Given the description of an element on the screen output the (x, y) to click on. 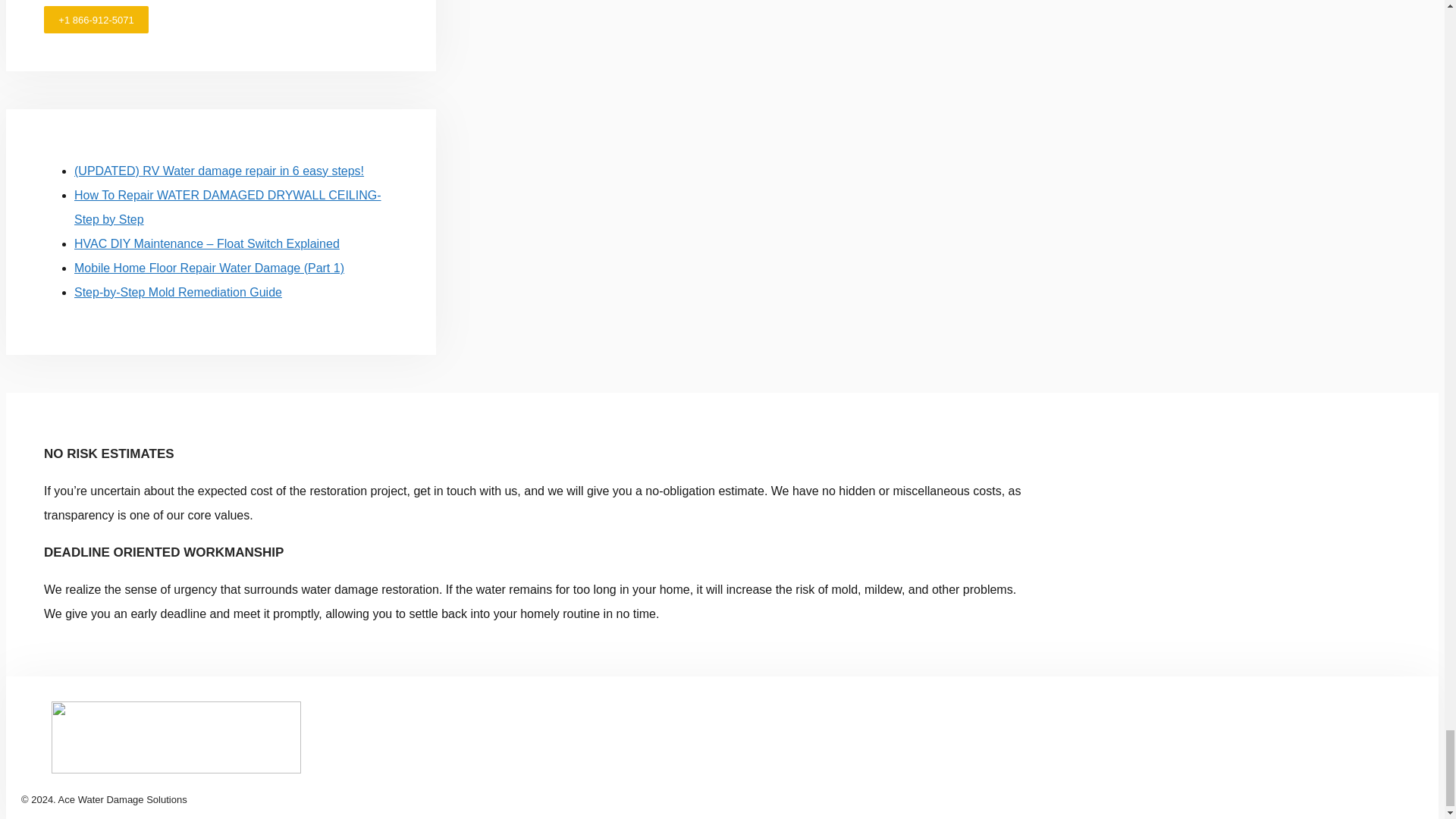
Step-by-Step Mold Remediation Guide (178, 291)
How To Repair WATER DAMAGED DRYWALL CEILING- Step by Step (227, 207)
